Given the description of an element on the screen output the (x, y) to click on. 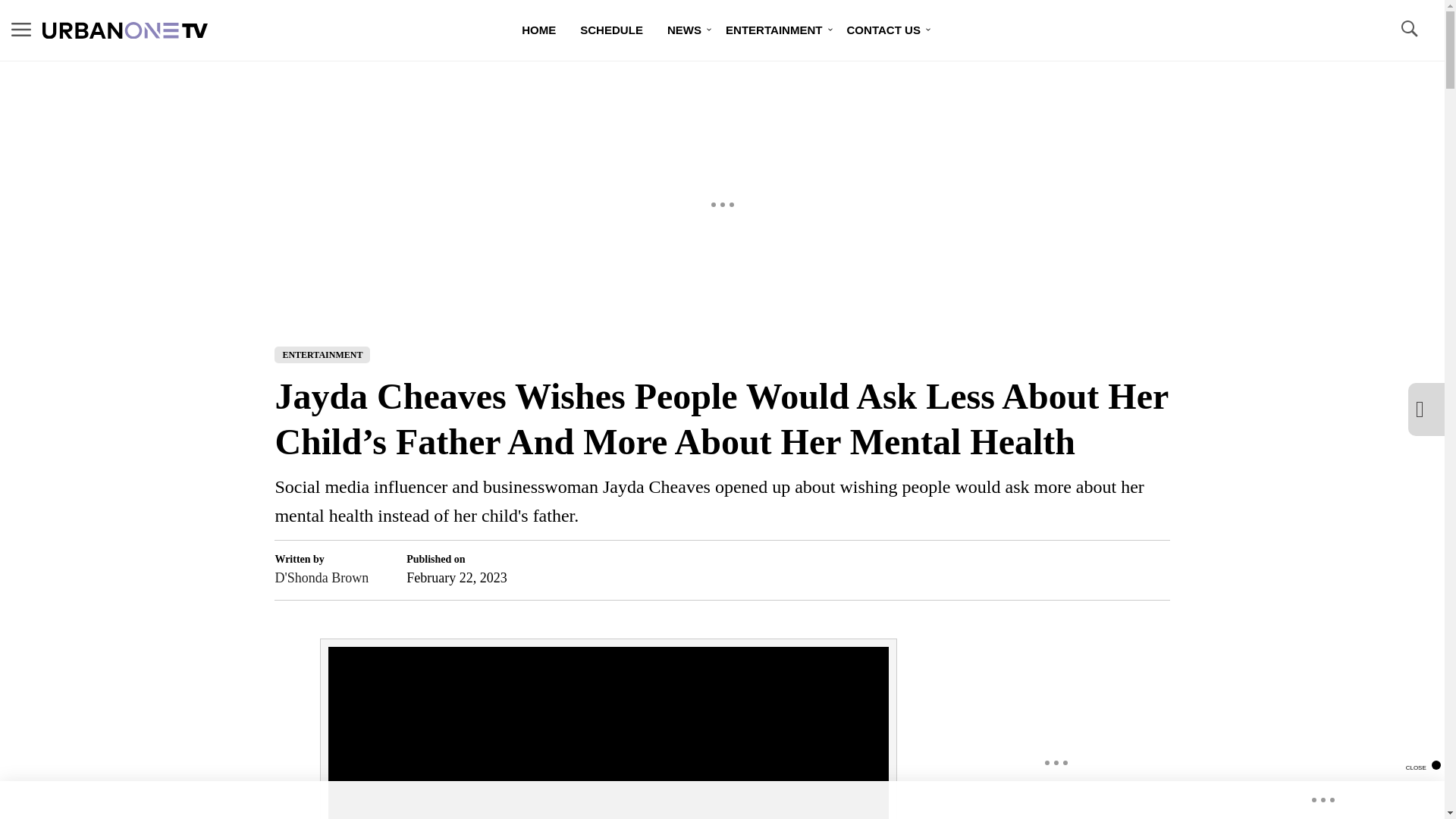
NEWS (684, 30)
TOGGLE SEARCH (1408, 28)
ENTERTAINMENT (322, 354)
Entertainment News (773, 30)
D'Shonda Brown (321, 577)
ENTERTAINMENT (773, 30)
HOME (538, 30)
CONTACT US (882, 30)
Share (1131, 570)
MENU (20, 29)
SCHEDULE (611, 30)
TOGGLE SEARCH (1408, 30)
MENU (20, 30)
News  (684, 30)
